Given the description of an element on the screen output the (x, y) to click on. 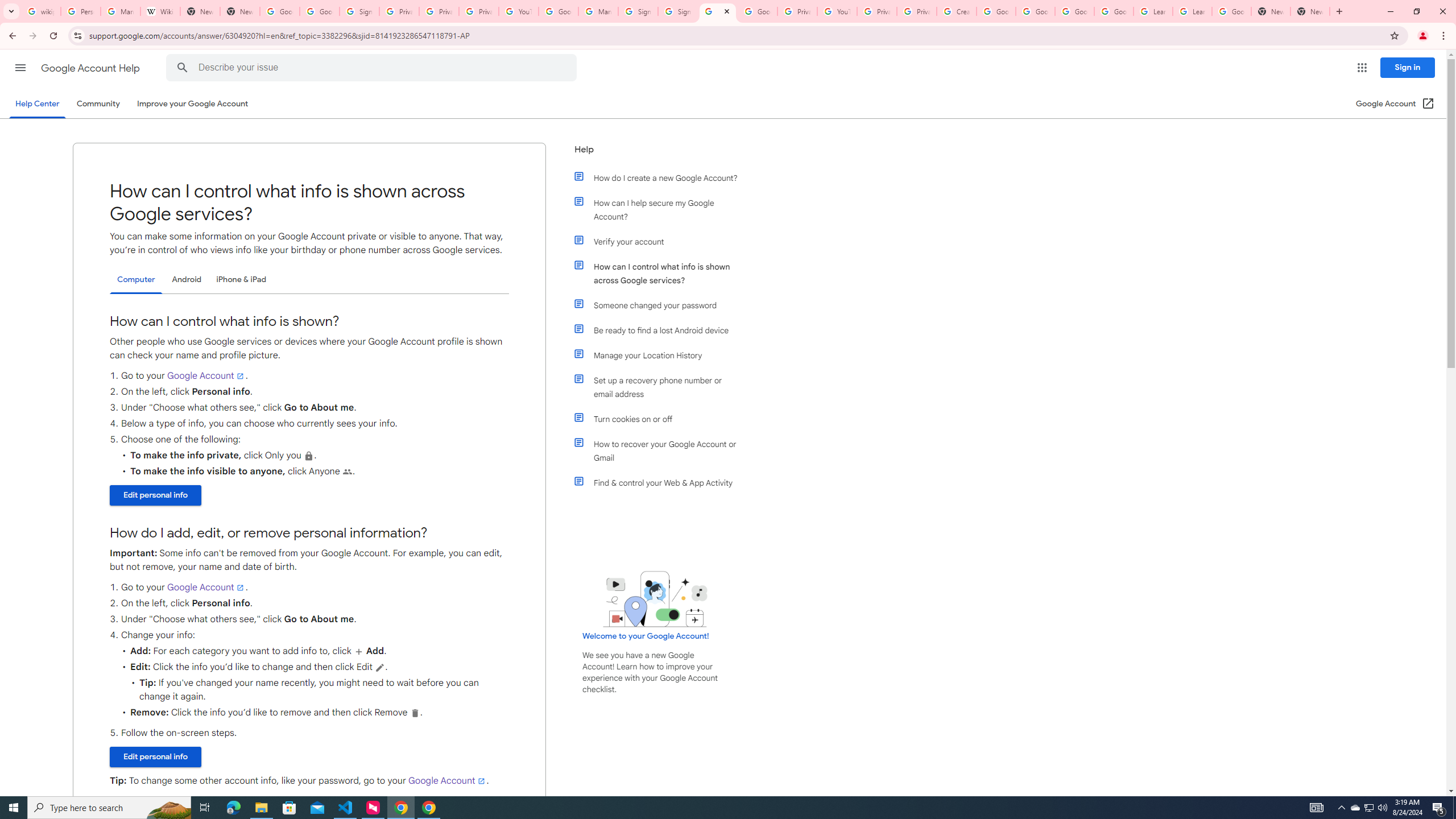
Google Account Help (91, 68)
New Tab (239, 11)
Android (186, 279)
Set up a recovery phone number or email address (661, 387)
Edit (379, 667)
Private, tap to edit who can see this info (309, 455)
Sign in - Google Accounts (359, 11)
